Given the description of an element on the screen output the (x, y) to click on. 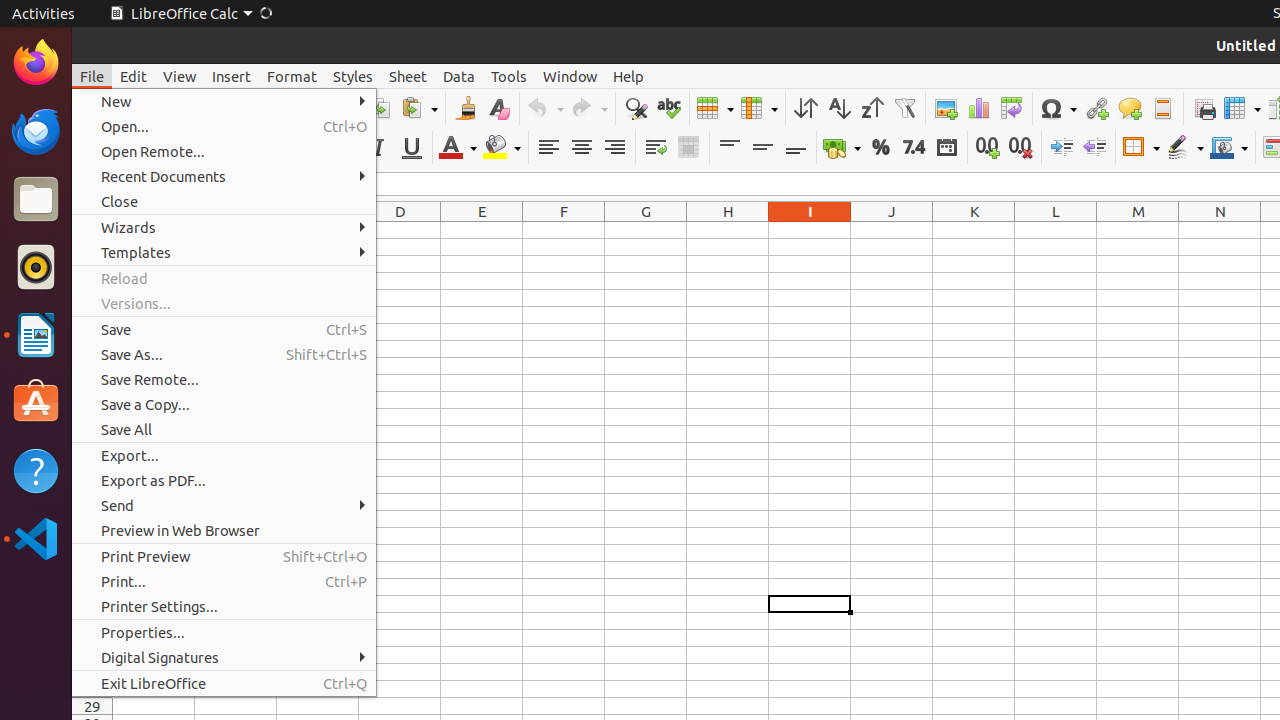
Save As... Element type: menu-item (224, 354)
Wrap Text Element type: push-button (655, 147)
Spelling Element type: push-button (668, 108)
Sort Descending Element type: push-button (871, 108)
Export as PDF... Element type: menu-item (224, 480)
